Given the description of an element on the screen output the (x, y) to click on. 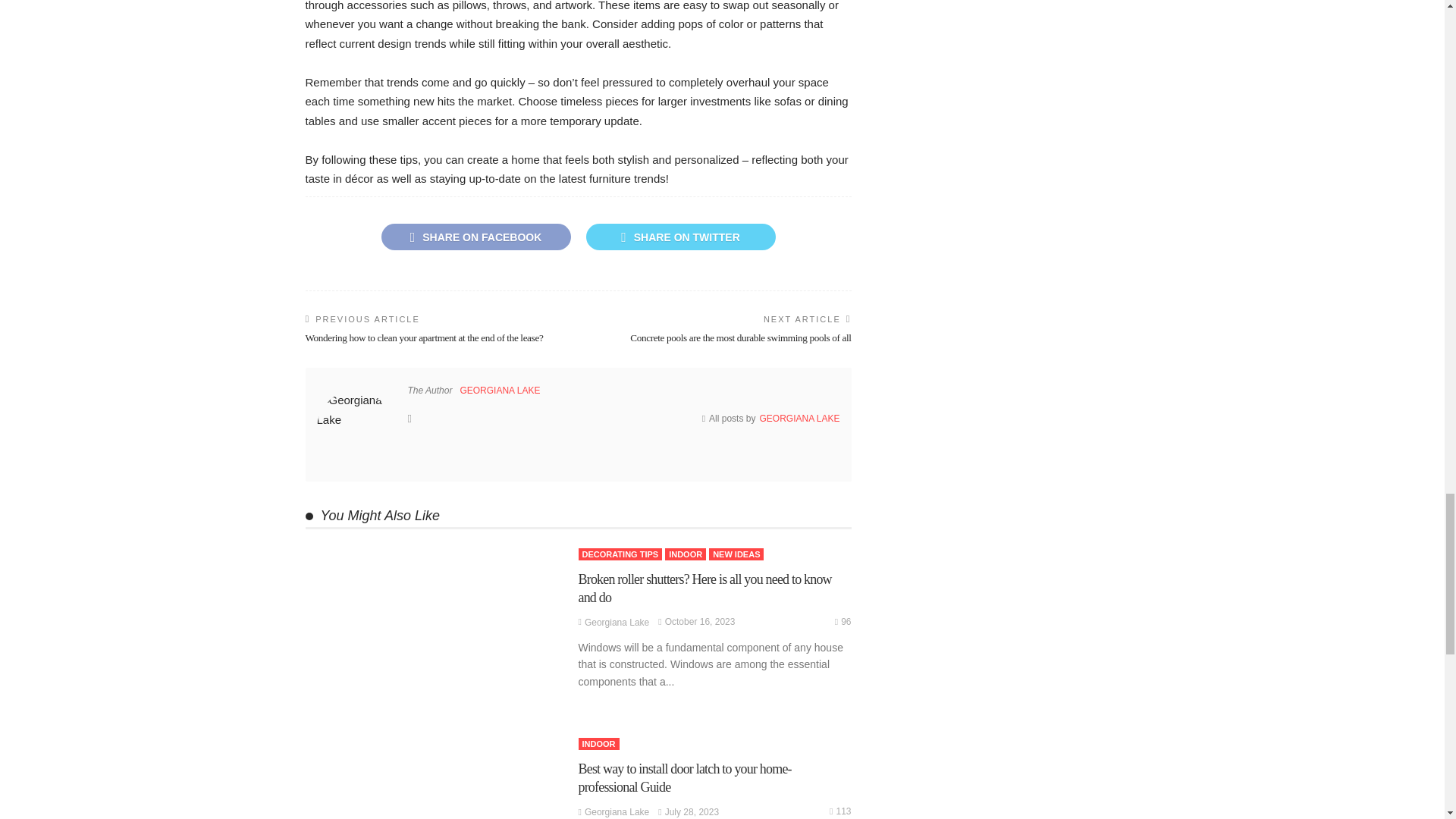
Concrete pools are the most durable swimming pools of all (740, 337)
GEORGIANA LAKE (500, 389)
SHARE ON FACEBOOK (475, 236)
Concrete pools are the most durable swimming pools of all (740, 337)
SHARE ON TWITTER (679, 236)
website (409, 418)
